Given the description of an element on the screen output the (x, y) to click on. 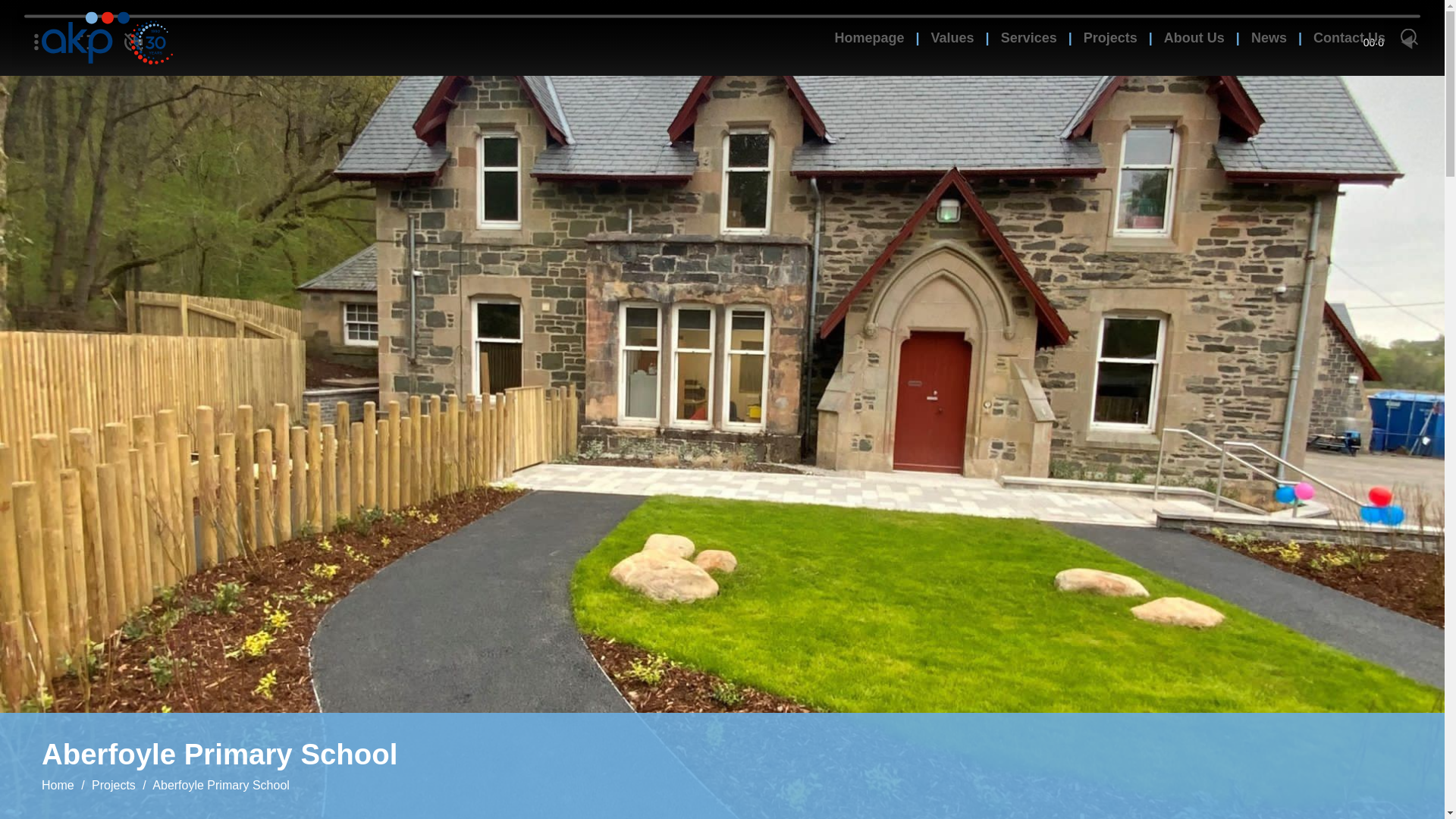
Contact Us (1349, 38)
Homepage (869, 38)
Home (58, 784)
